Given the description of an element on the screen output the (x, y) to click on. 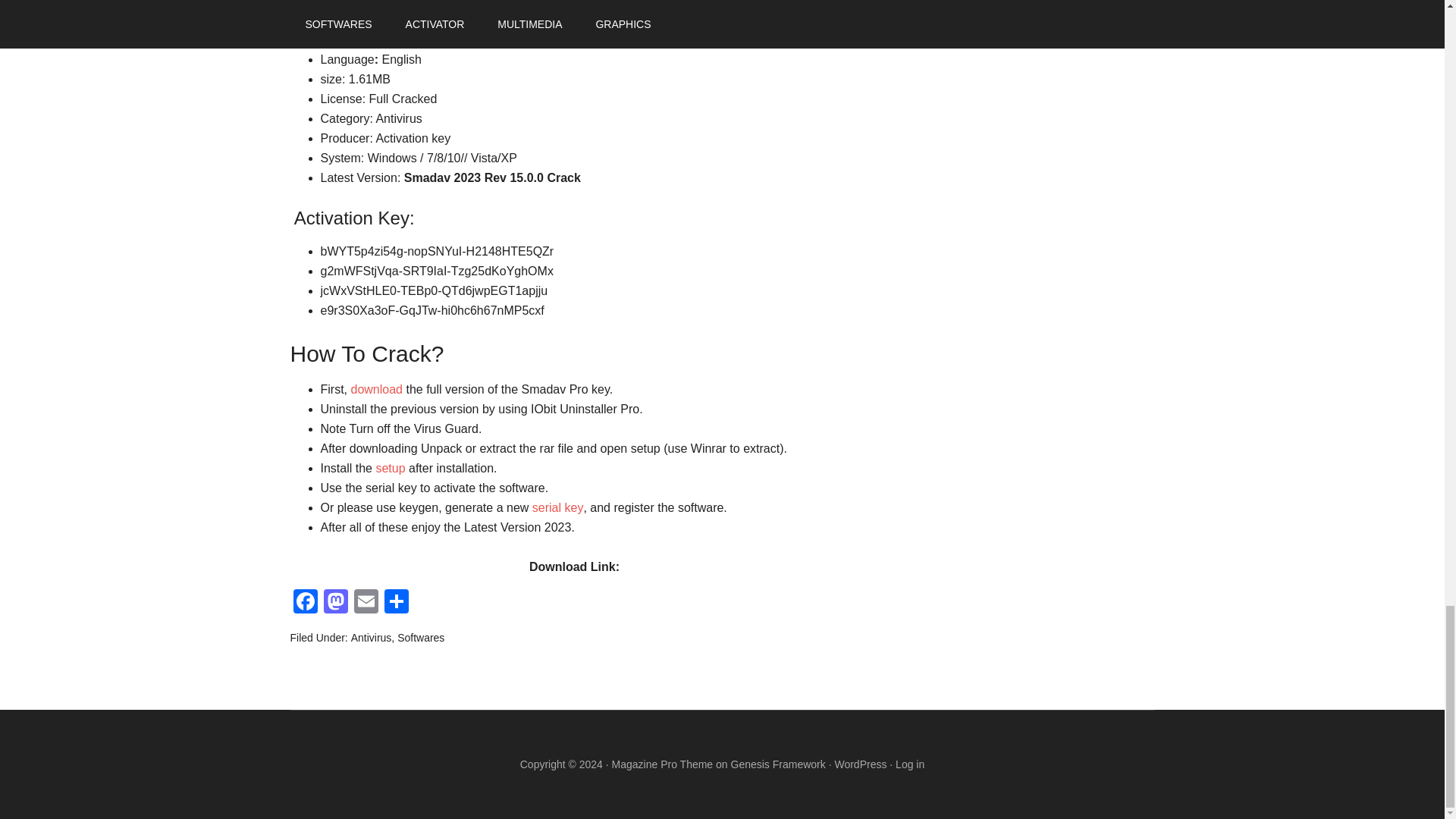
Email (365, 602)
Facebook (304, 602)
Email (365, 602)
setup (389, 468)
Antivirus (370, 637)
Softwares (420, 637)
Mastodon (335, 602)
Facebook (304, 602)
Mastodon (335, 602)
serial key (557, 507)
download (376, 389)
